Given the description of an element on the screen output the (x, y) to click on. 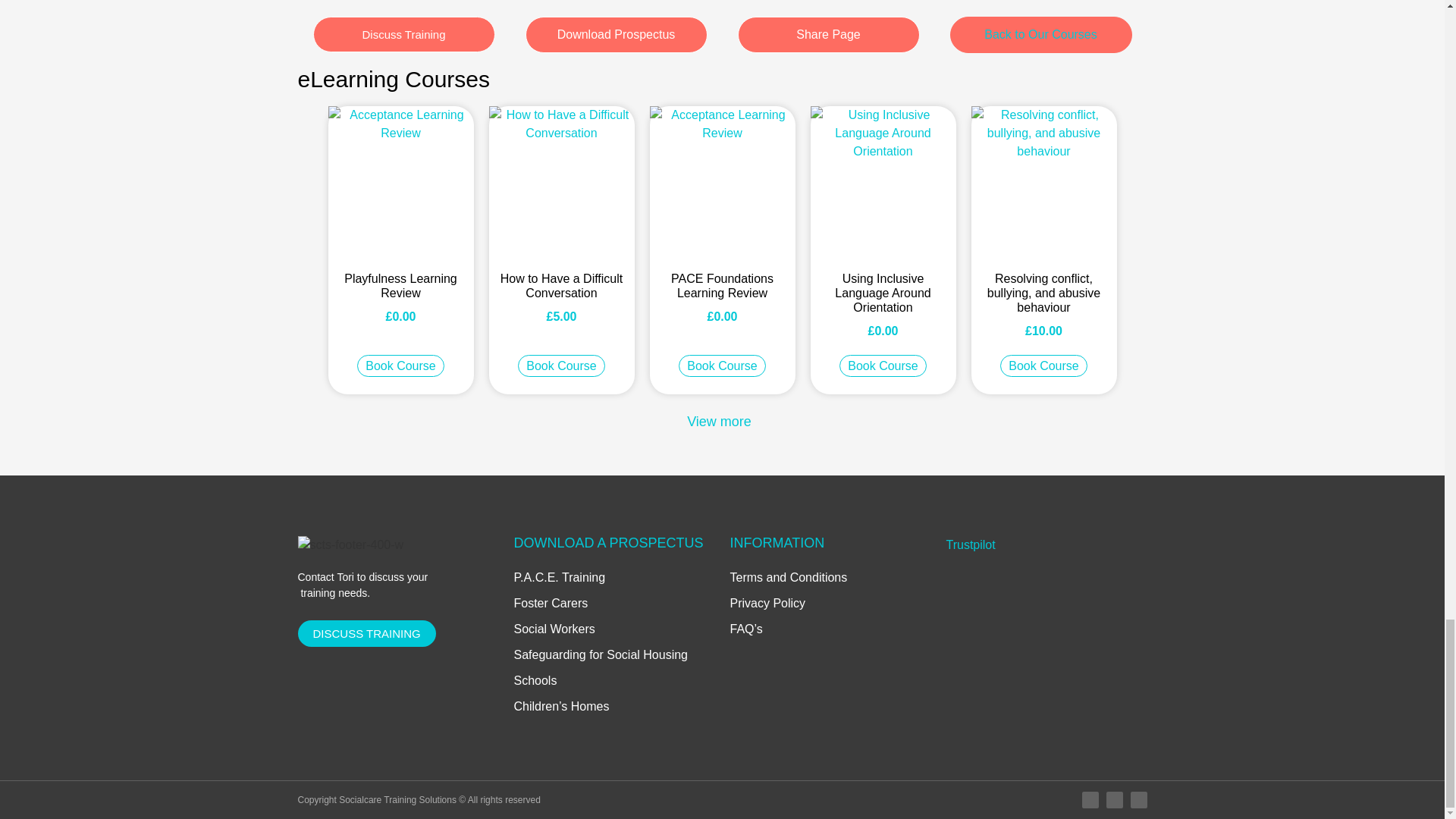
Book Course (400, 365)
Acceptance Learning Review (400, 181)
Book Course (721, 365)
Back to Our Courses (1040, 34)
Discuss Training (404, 34)
Acceptance Learning Review (721, 181)
Share Page (827, 34)
Using Inclusive Language Around Orientation (882, 181)
How to Have a Difficult Conversation (560, 181)
Download Prospectus (615, 34)
